Given the description of an element on the screen output the (x, y) to click on. 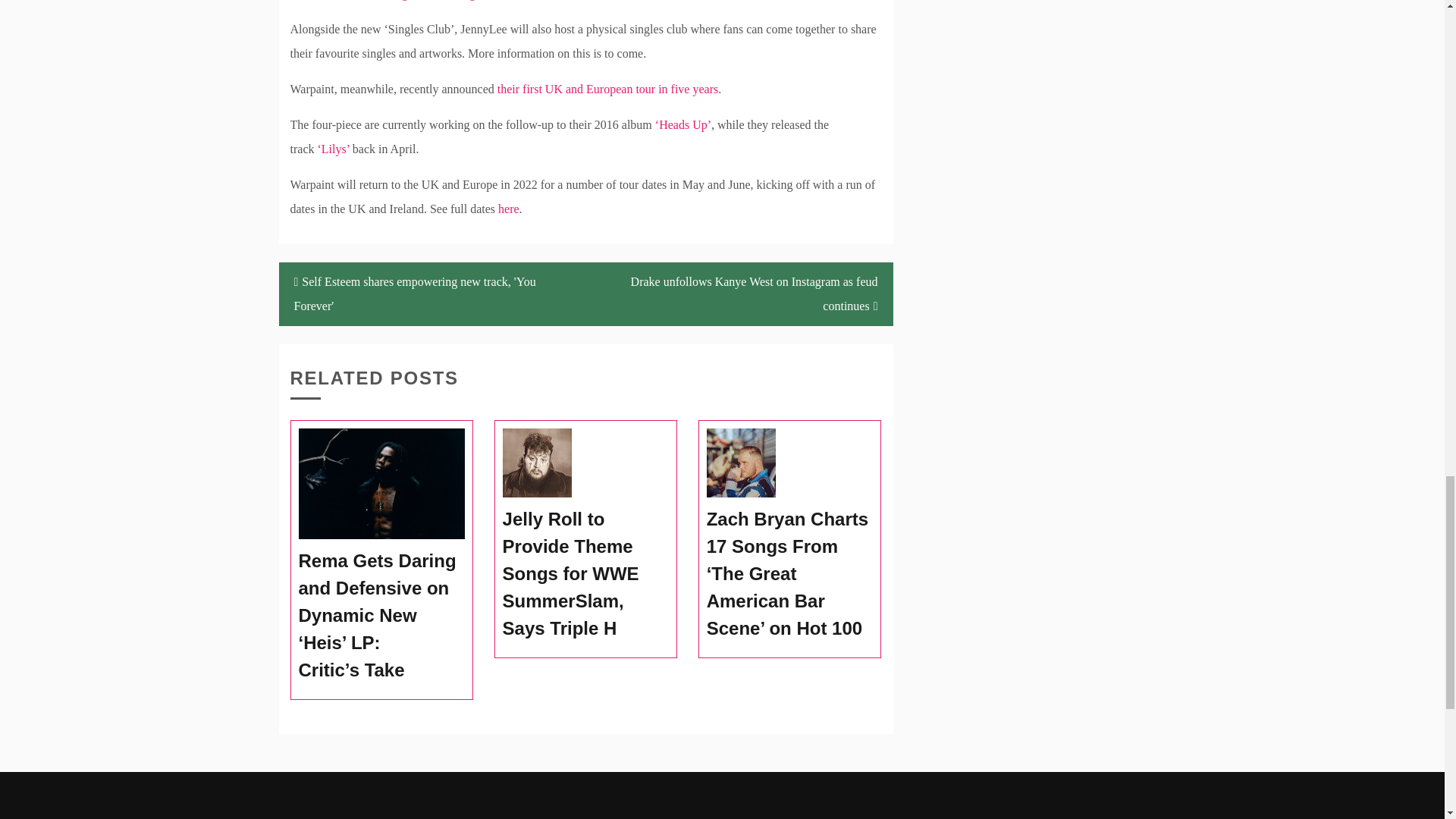
Drake unfollows Kanye West on Instagram as feud continues (738, 293)
Self Esteem shares empowering new track, 'You Forever' (432, 293)
their first UK and European tour in five years (607, 88)
here (508, 208)
